Given the description of an element on the screen output the (x, y) to click on. 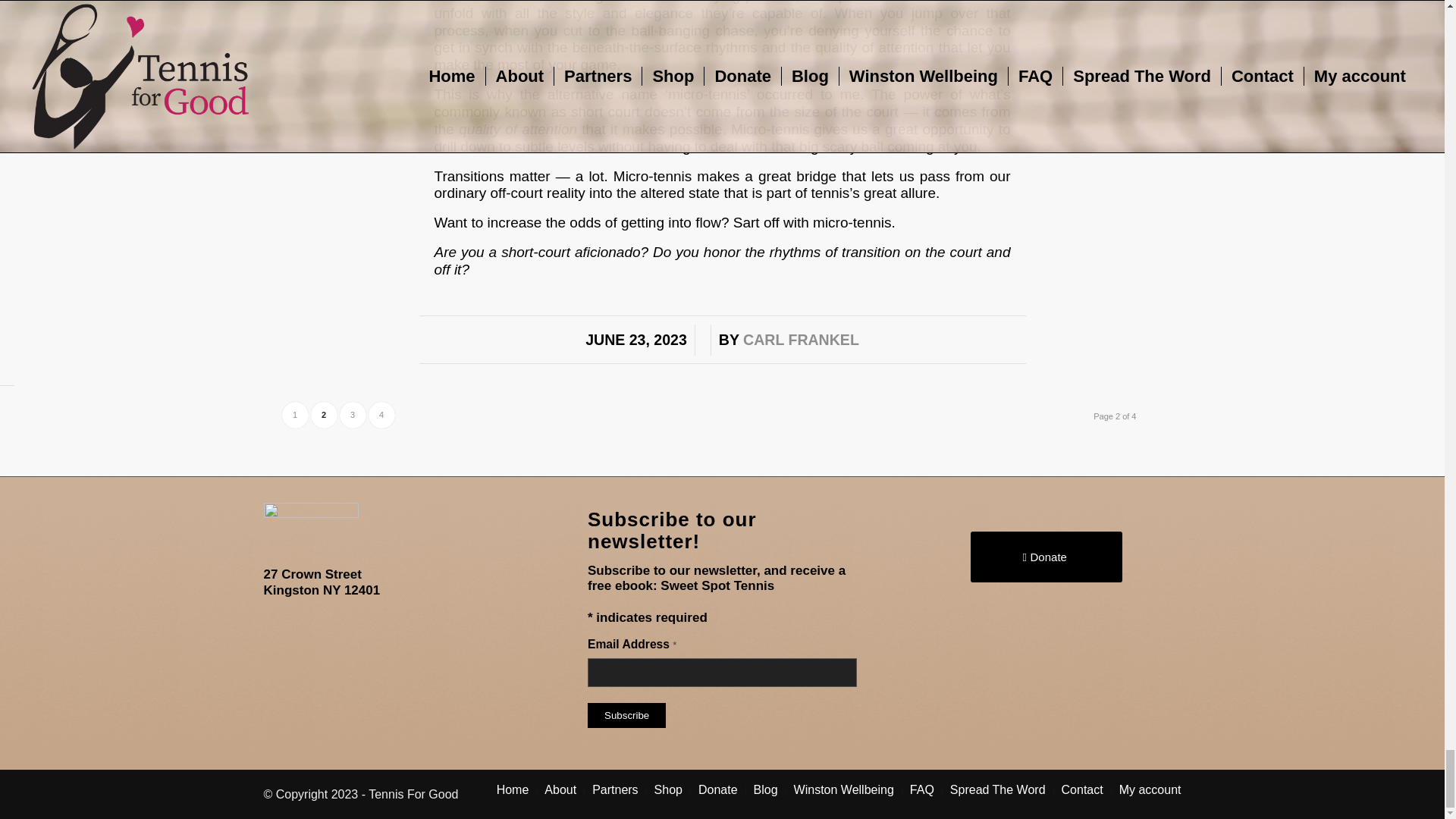
Subscribe (626, 715)
